Given the description of an element on the screen output the (x, y) to click on. 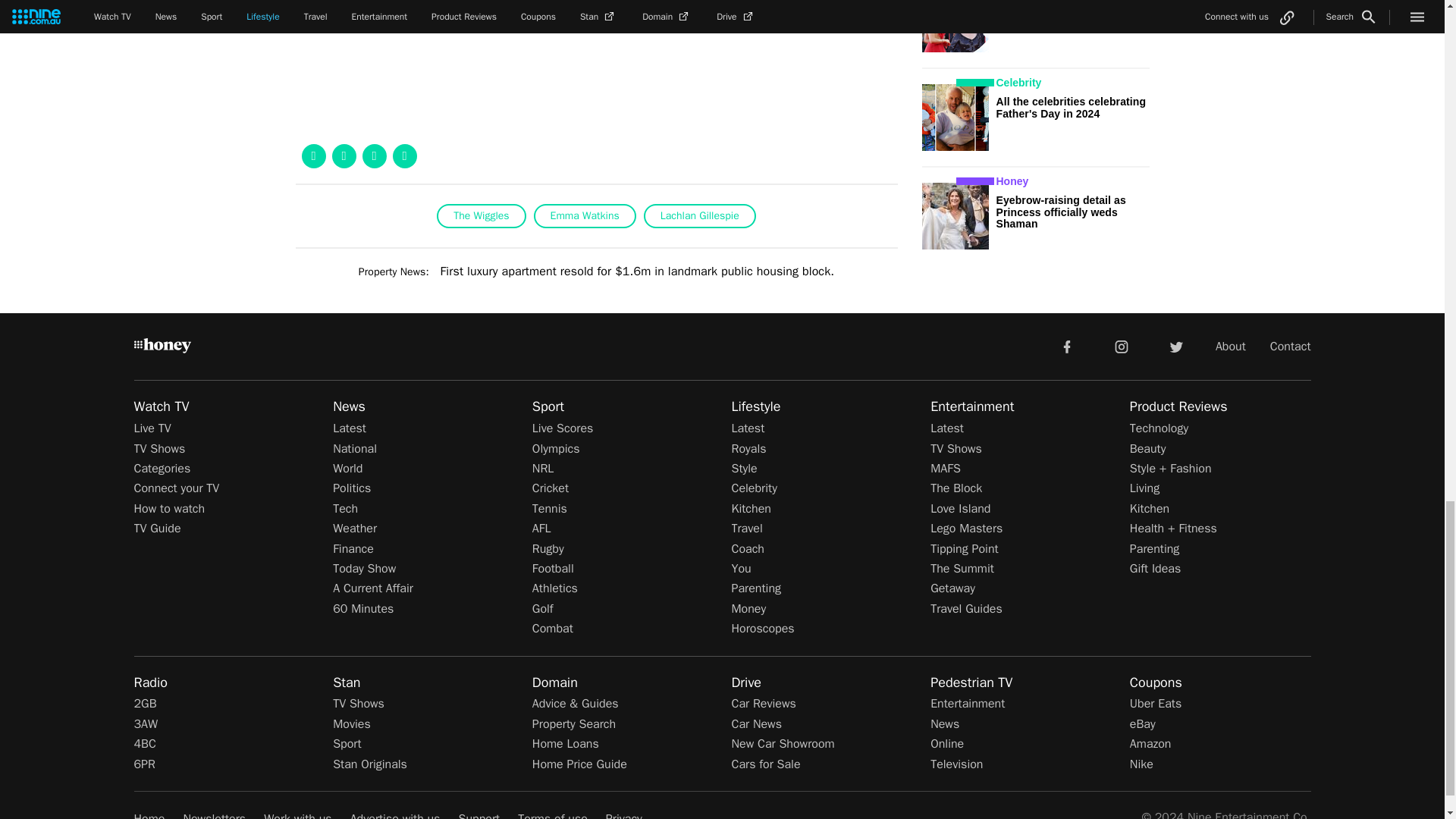
instagram (1121, 345)
twitter (1175, 345)
facebook (1066, 345)
